Given the description of an element on the screen output the (x, y) to click on. 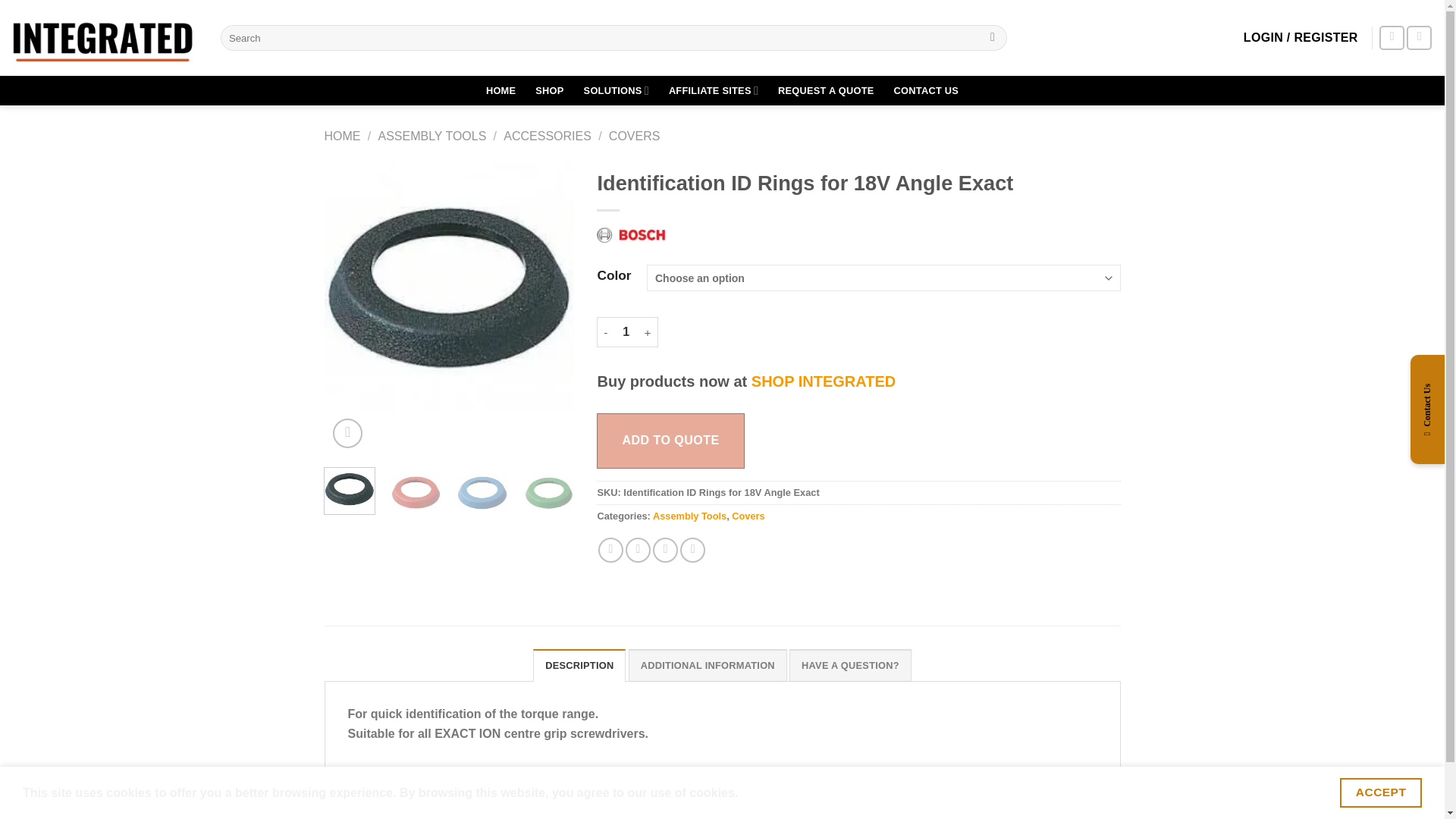
Search (992, 37)
Share on LinkedIn (691, 549)
Share on Twitter (638, 549)
HOME (500, 90)
1 (626, 331)
Zoom (347, 432)
- (604, 331)
Share on Facebook (610, 549)
Login (1300, 37)
Follow on LinkedIn (1418, 37)
SOLUTIONS (616, 90)
Email to a Friend (665, 549)
SHOP (549, 90)
Send us an email (1391, 37)
